Given the description of an element on the screen output the (x, y) to click on. 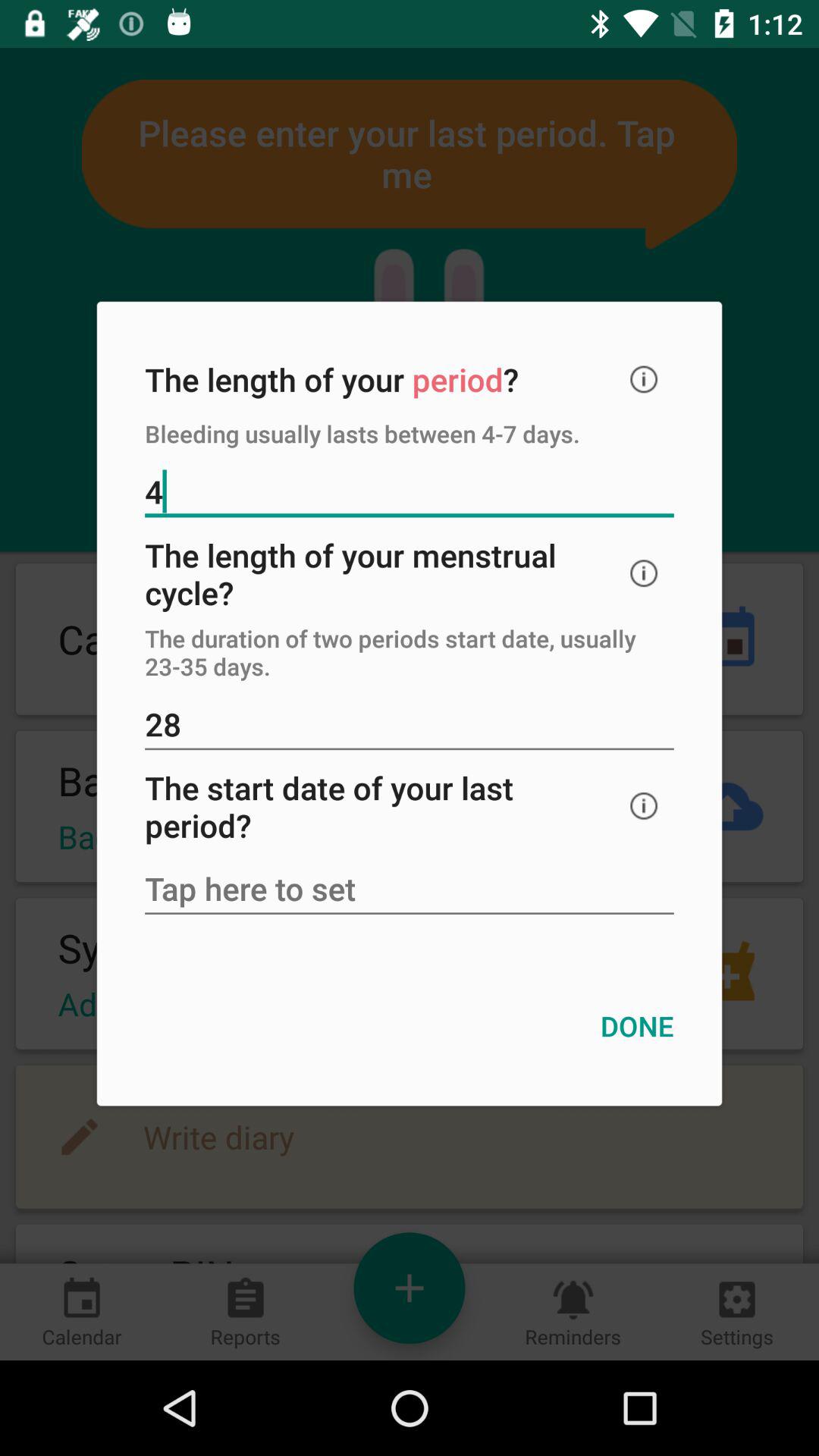
click to write date (409, 890)
